Given the description of an element on the screen output the (x, y) to click on. 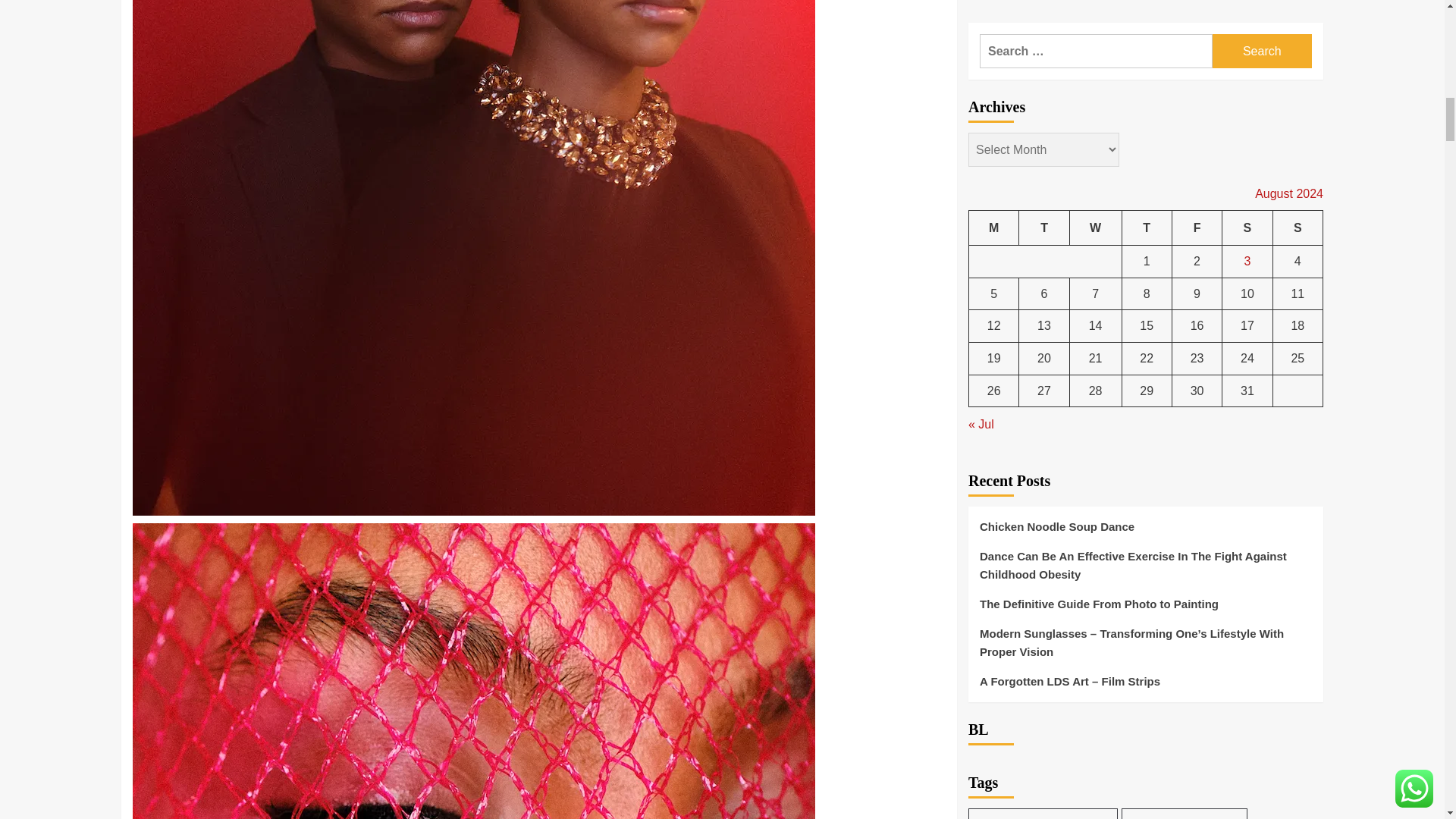
Seedbacklink (986, 575)
